Given the description of an element on the screen output the (x, y) to click on. 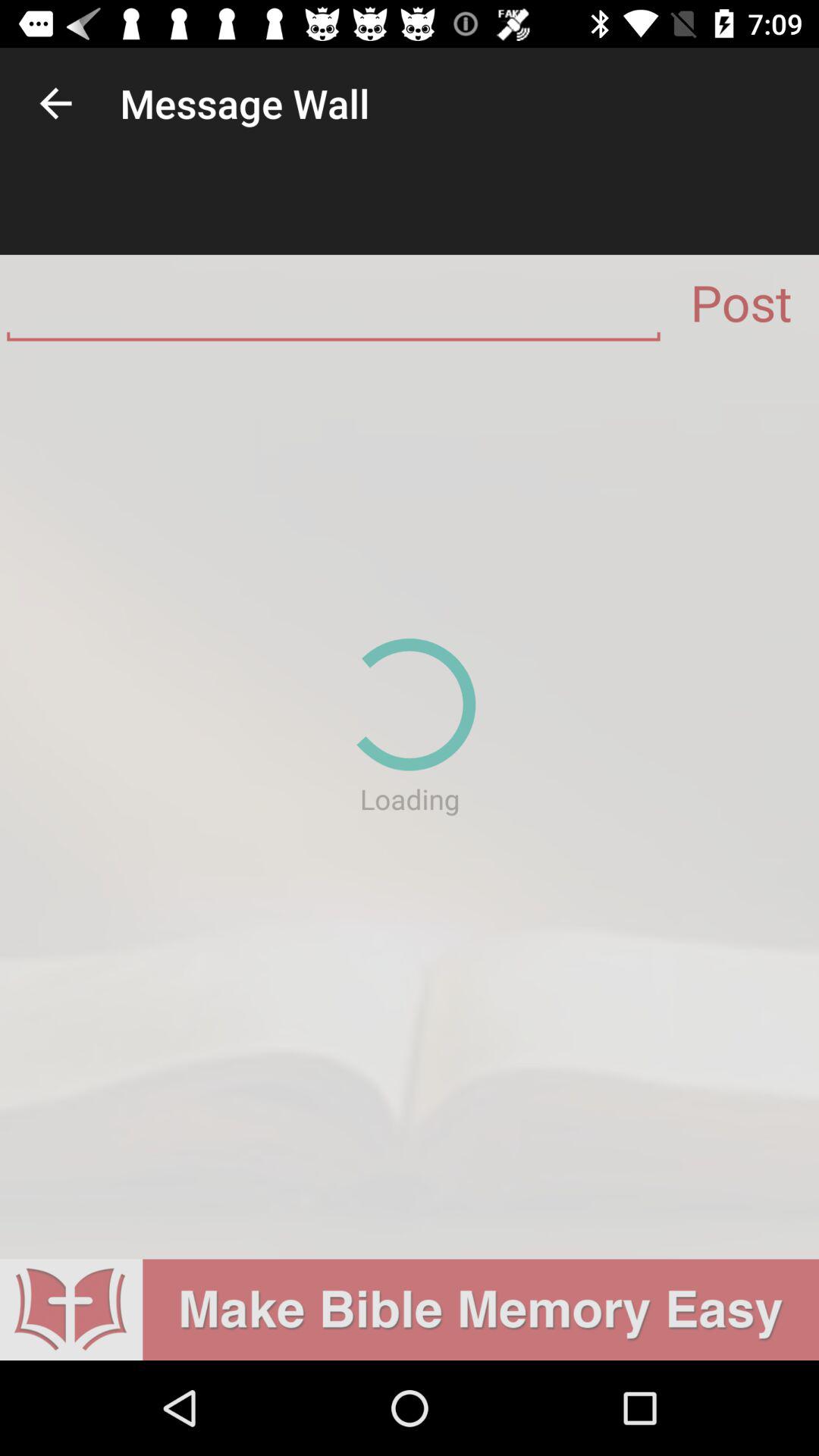
toggle loading option (409, 804)
